Given the description of an element on the screen output the (x, y) to click on. 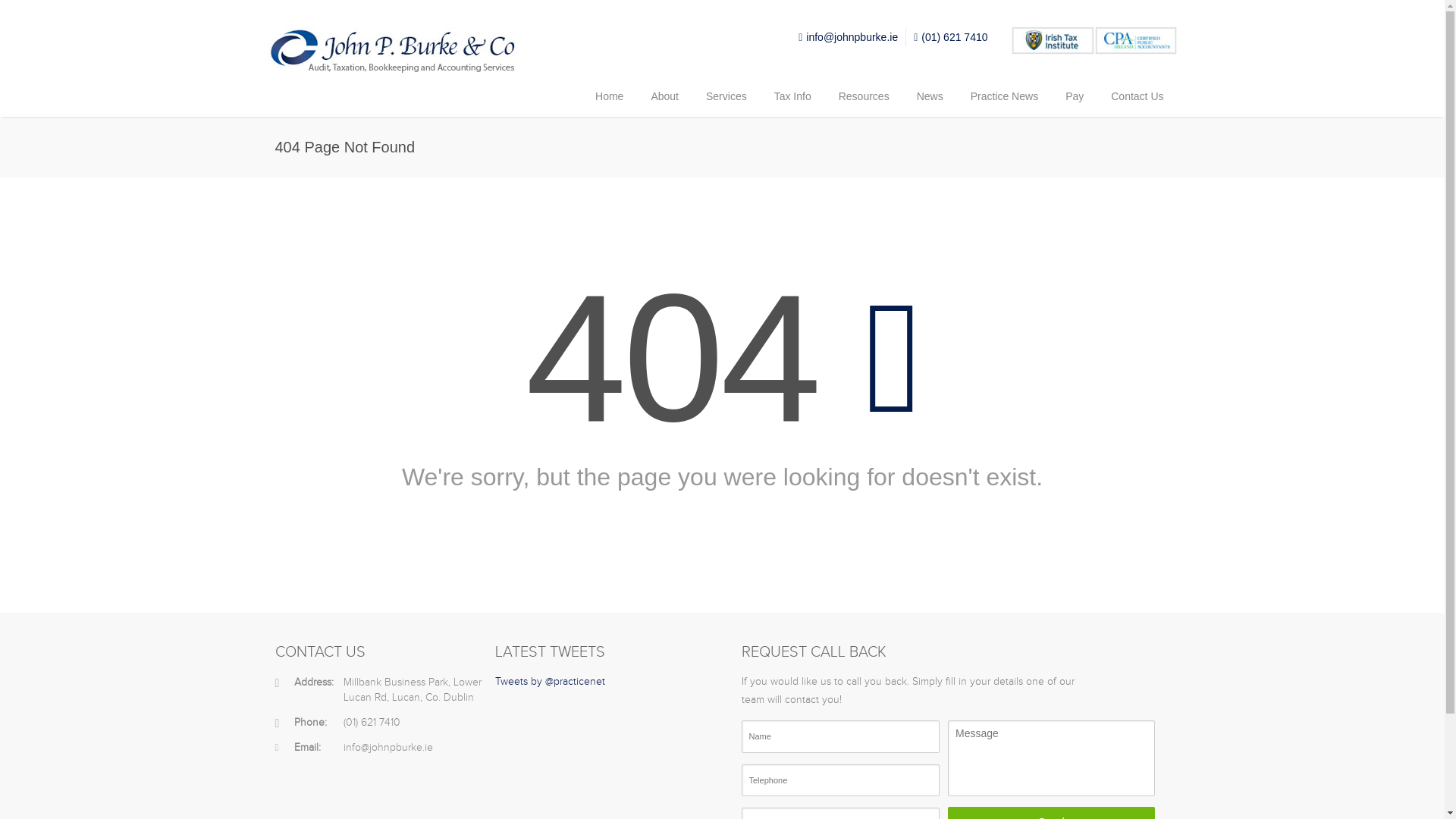
Home (608, 97)
Send (1050, 812)
Practice News (1003, 97)
Resources (863, 97)
About (665, 97)
Pay (1074, 97)
Services (726, 97)
Tax Info (792, 97)
Send (1050, 812)
News (929, 97)
Contact Us (1136, 97)
